Given the description of an element on the screen output the (x, y) to click on. 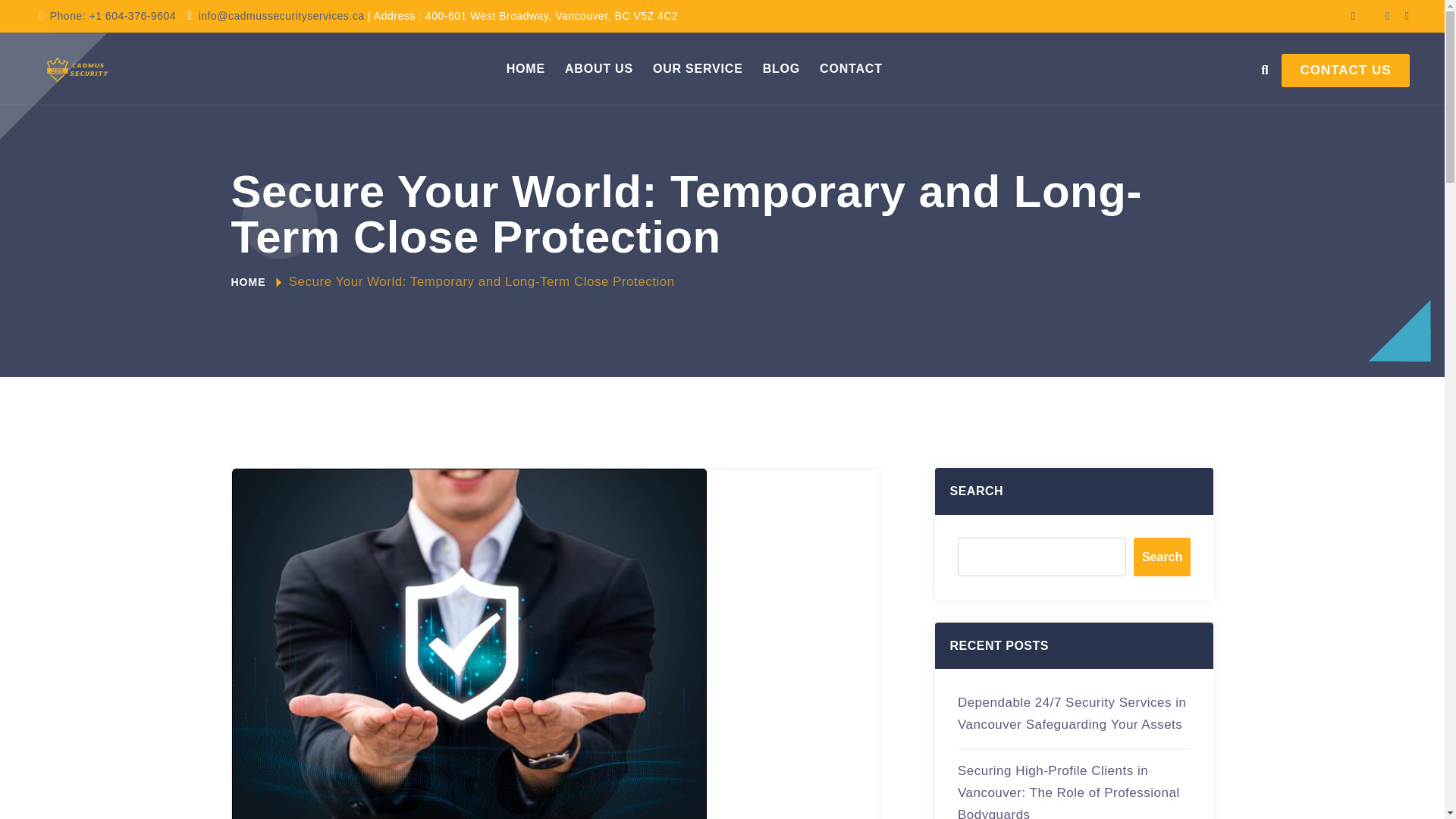
Search (1162, 556)
ABOUT US (599, 68)
BLOG (781, 68)
HOME (525, 68)
Our Service (697, 68)
CONTACT US (1345, 70)
Blog (781, 68)
About Us (599, 68)
Contact (850, 68)
OUR SERVICE (697, 68)
Home (525, 68)
CONTACT (850, 68)
HOME (247, 282)
